Given the description of an element on the screen output the (x, y) to click on. 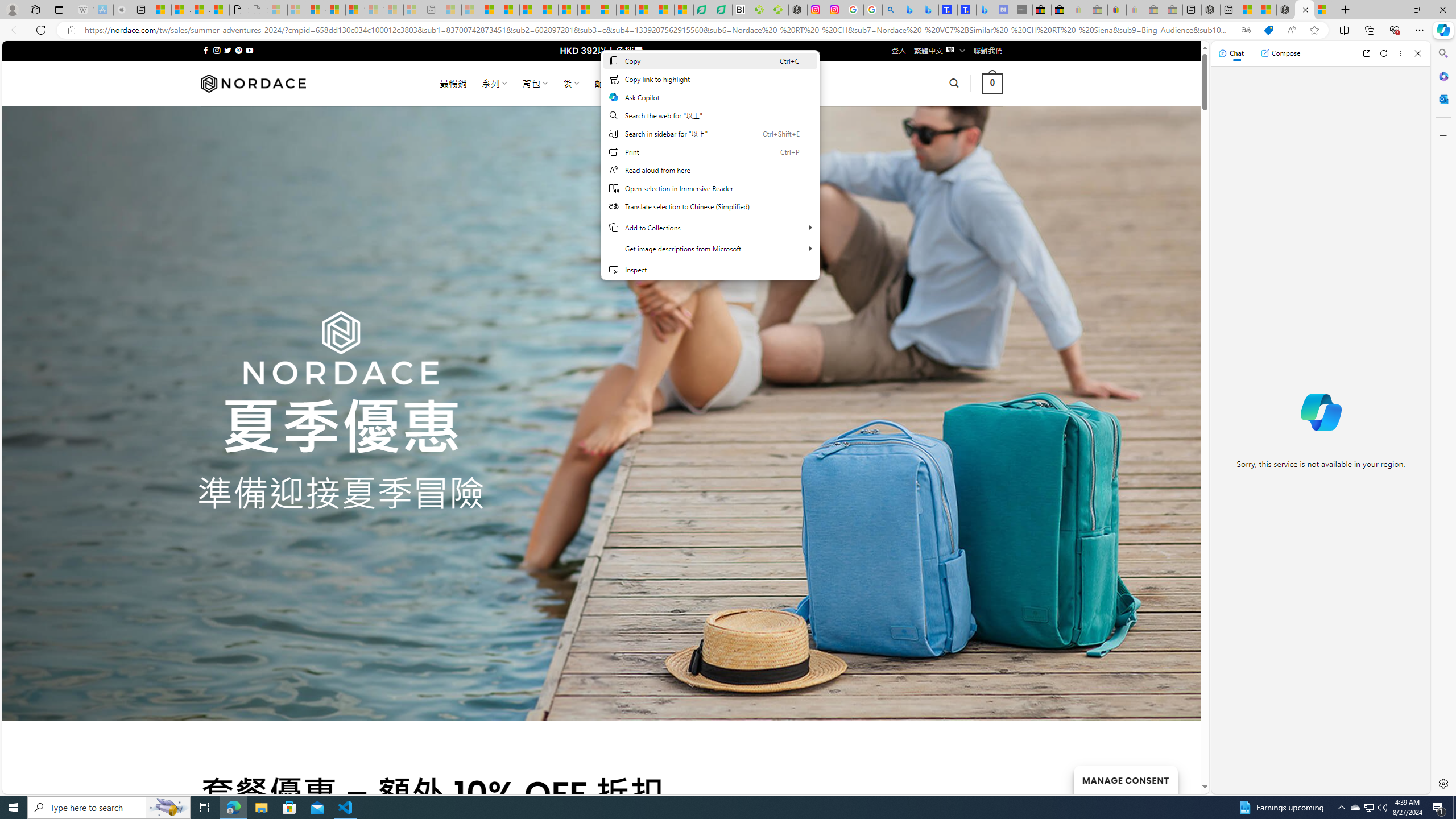
Aberdeen, Hong Kong SAR severe weather | Microsoft Weather (219, 9)
Shangri-La Bangkok, Hotel reviews and Room rates (966, 9)
Microsoft Services Agreement - Sleeping (296, 9)
Safety in Our Products - Google Safety Center (853, 9)
